Given the description of an element on the screen output the (x, y) to click on. 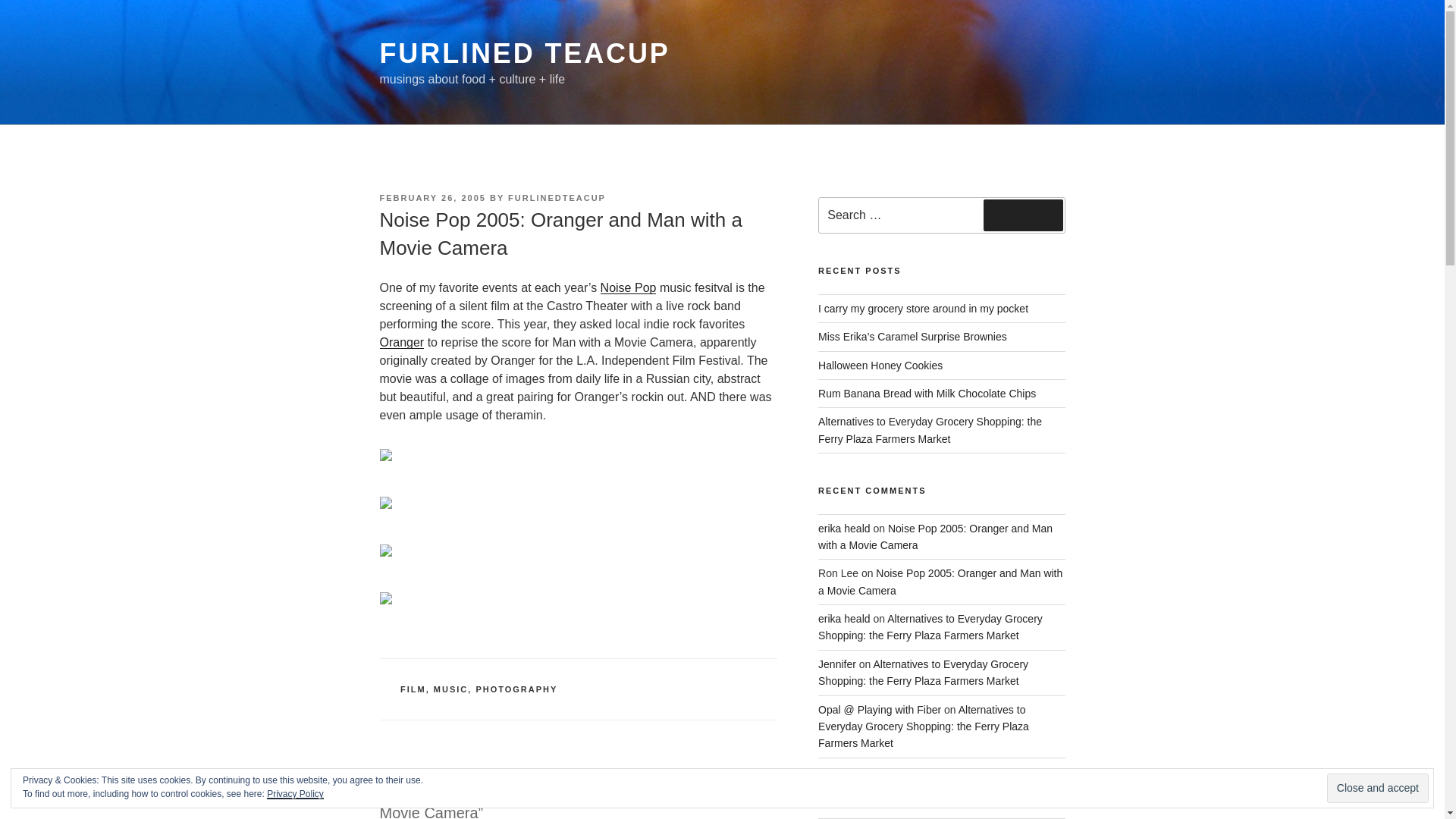
erika heald (844, 527)
FURLINED TEACUP (523, 52)
Jennifer (837, 664)
PHOTOGRAPHY (516, 688)
Noise Pop 2005: Oranger and Man with a Movie Camera (940, 581)
FEBRUARY 26, 2005 (431, 197)
FURLINEDTEACUP (556, 197)
Oranger (400, 341)
